Given the description of an element on the screen output the (x, y) to click on. 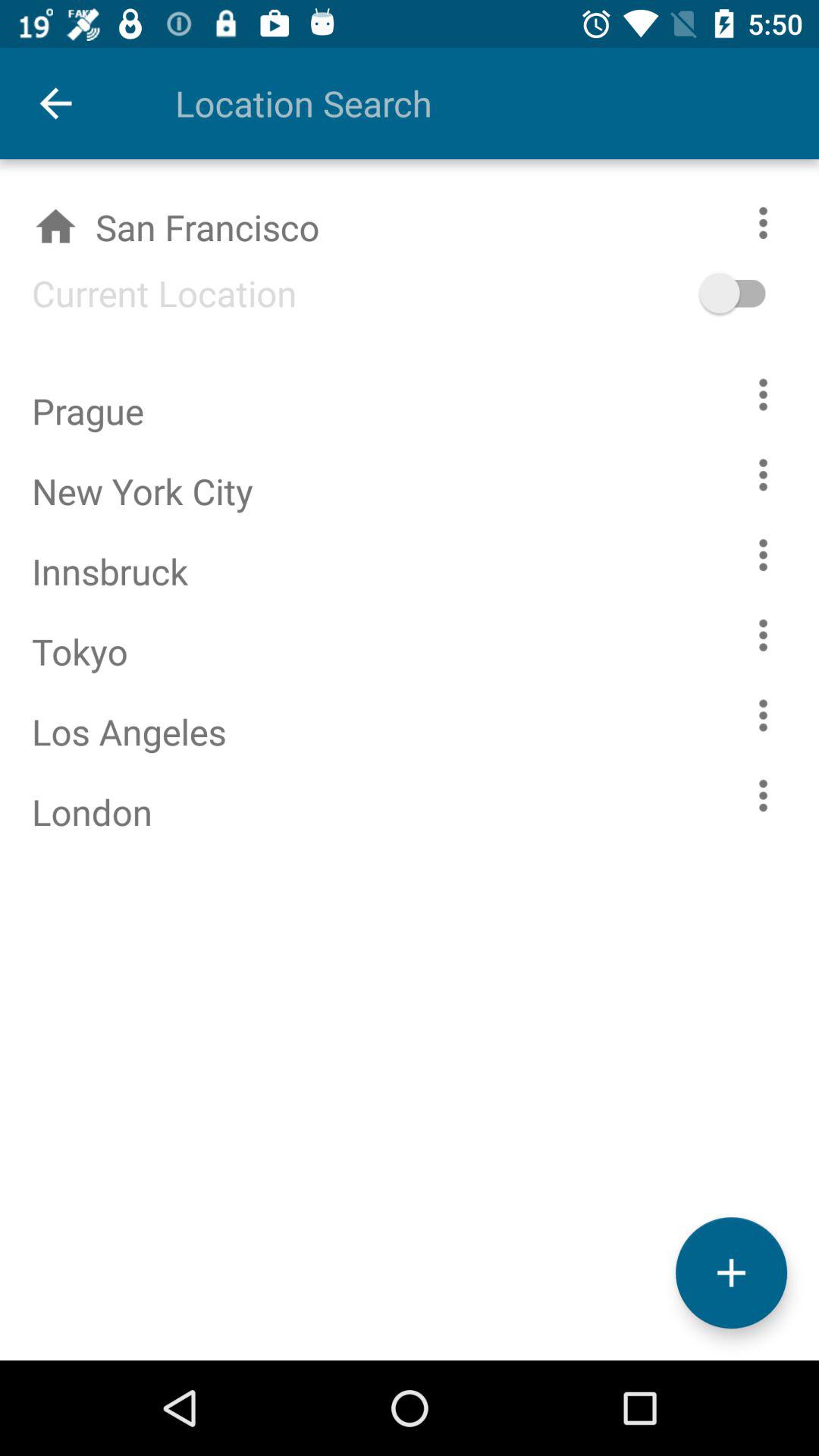
search location (464, 103)
